Given the description of an element on the screen output the (x, y) to click on. 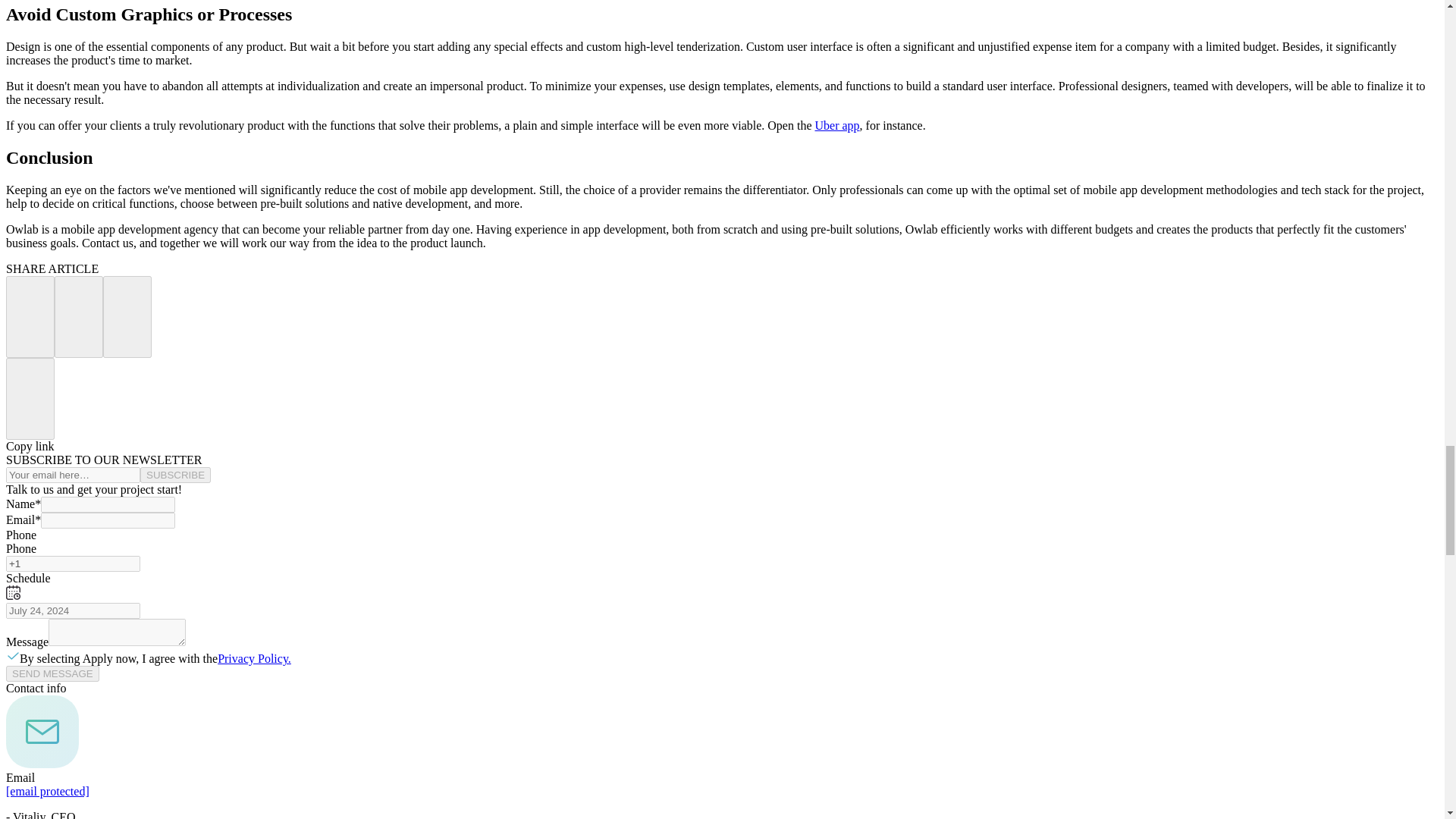
How to create Uber like app (836, 124)
